Given the description of an element on the screen output the (x, y) to click on. 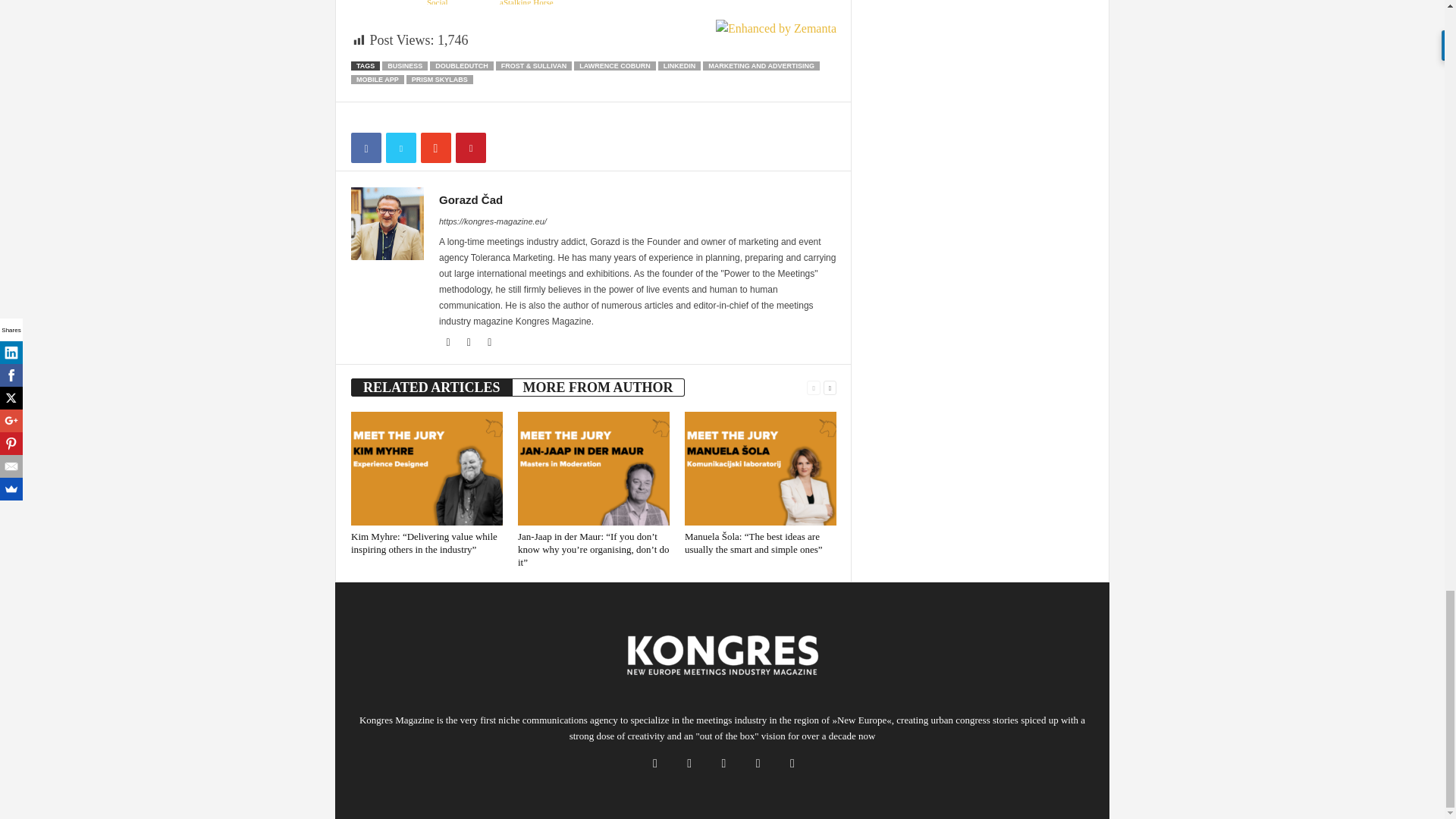
Linkedin (470, 342)
Facebook (449, 342)
Twitter (489, 342)
